Given the description of an element on the screen output the (x, y) to click on. 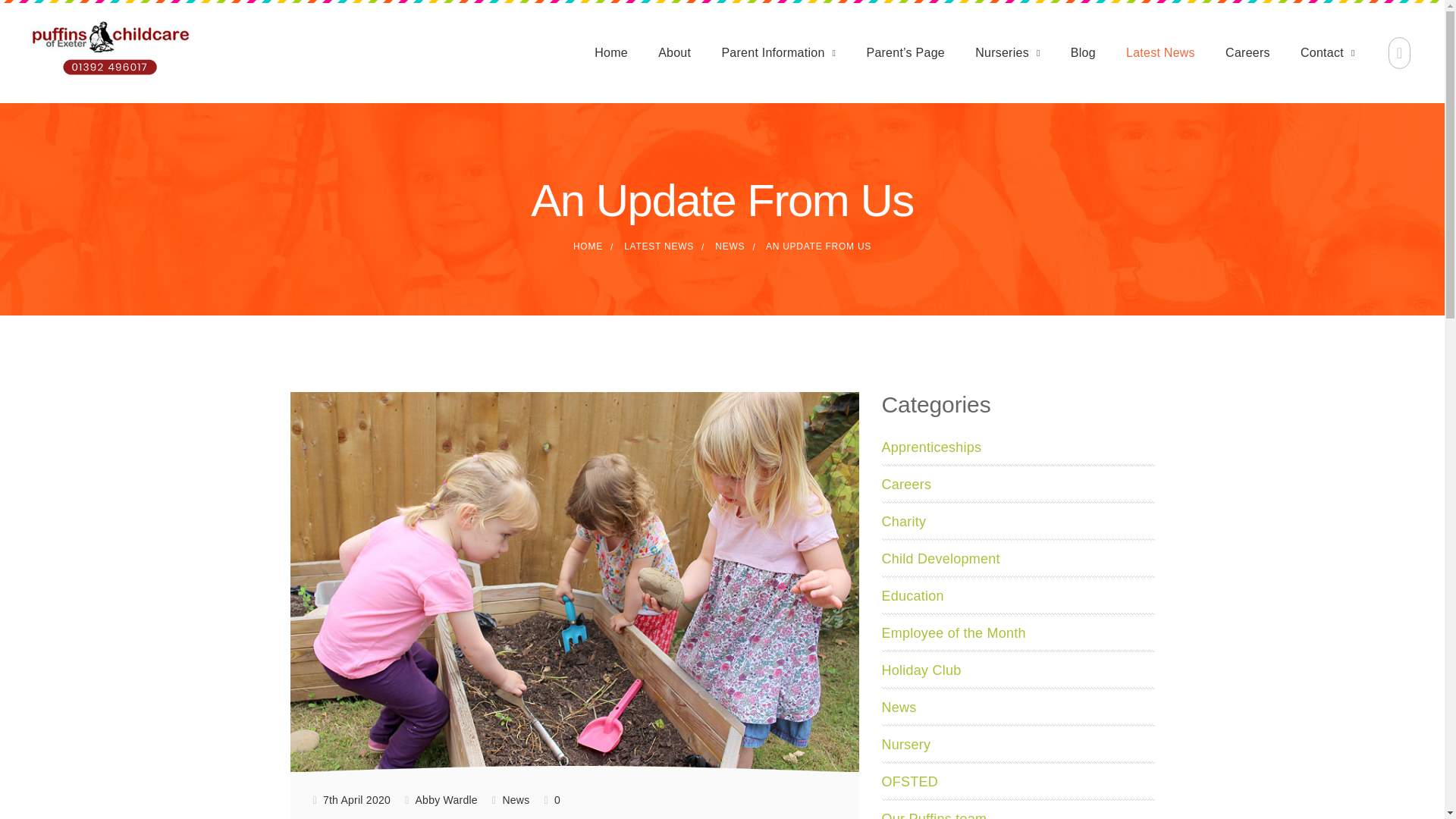
About (674, 52)
Home (610, 52)
HOME (587, 246)
Careers (1247, 52)
Contact (1327, 52)
NEWS (729, 246)
LATEST NEWS (659, 246)
Puffins of Exeter Childcare (587, 246)
Parent Information (777, 52)
Nurseries (1007, 52)
Latest News (1160, 52)
Latest News (659, 246)
